Given the description of an element on the screen output the (x, y) to click on. 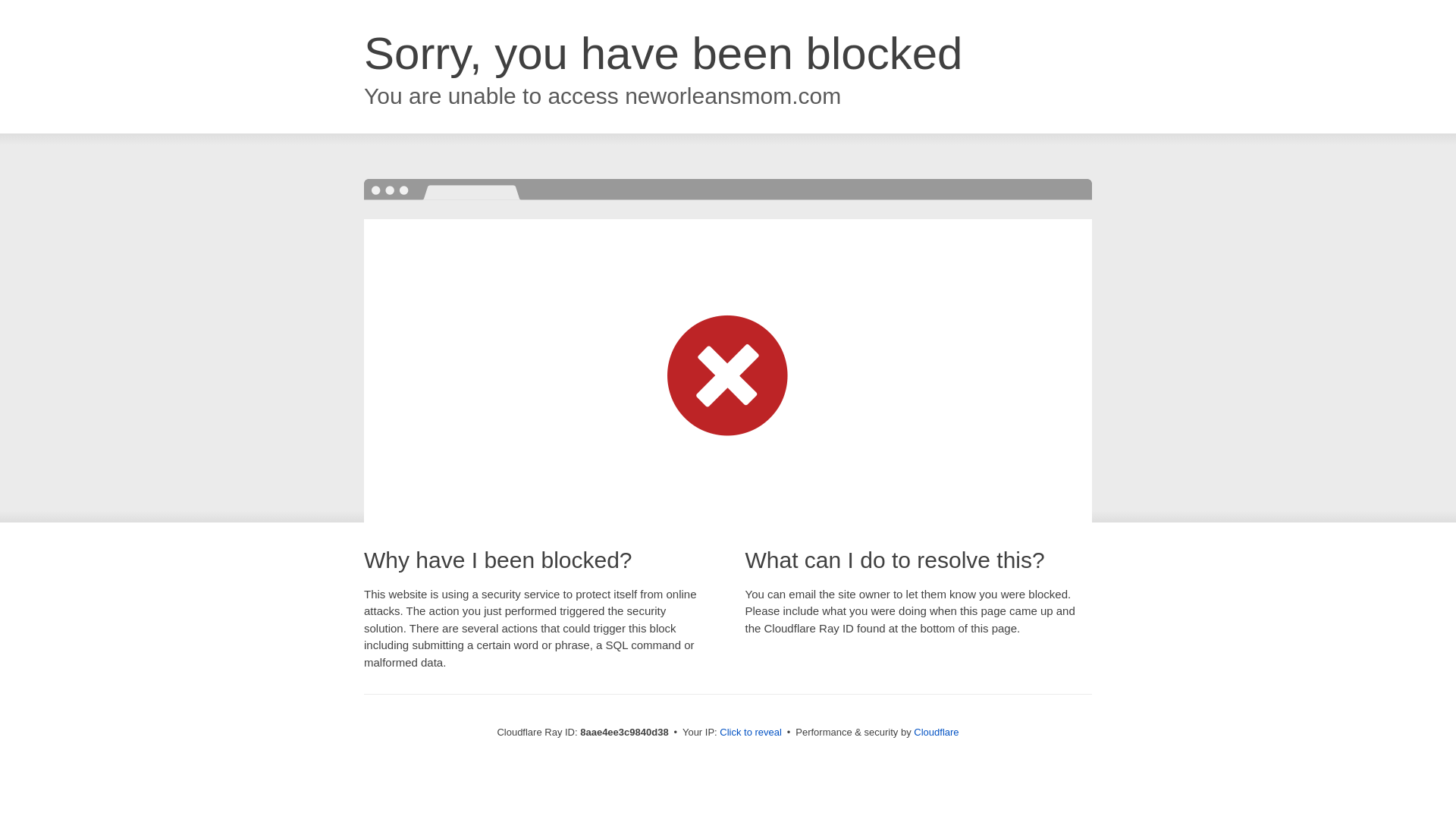
Cloudflare (936, 731)
Click to reveal (750, 732)
